Given the description of an element on the screen output the (x, y) to click on. 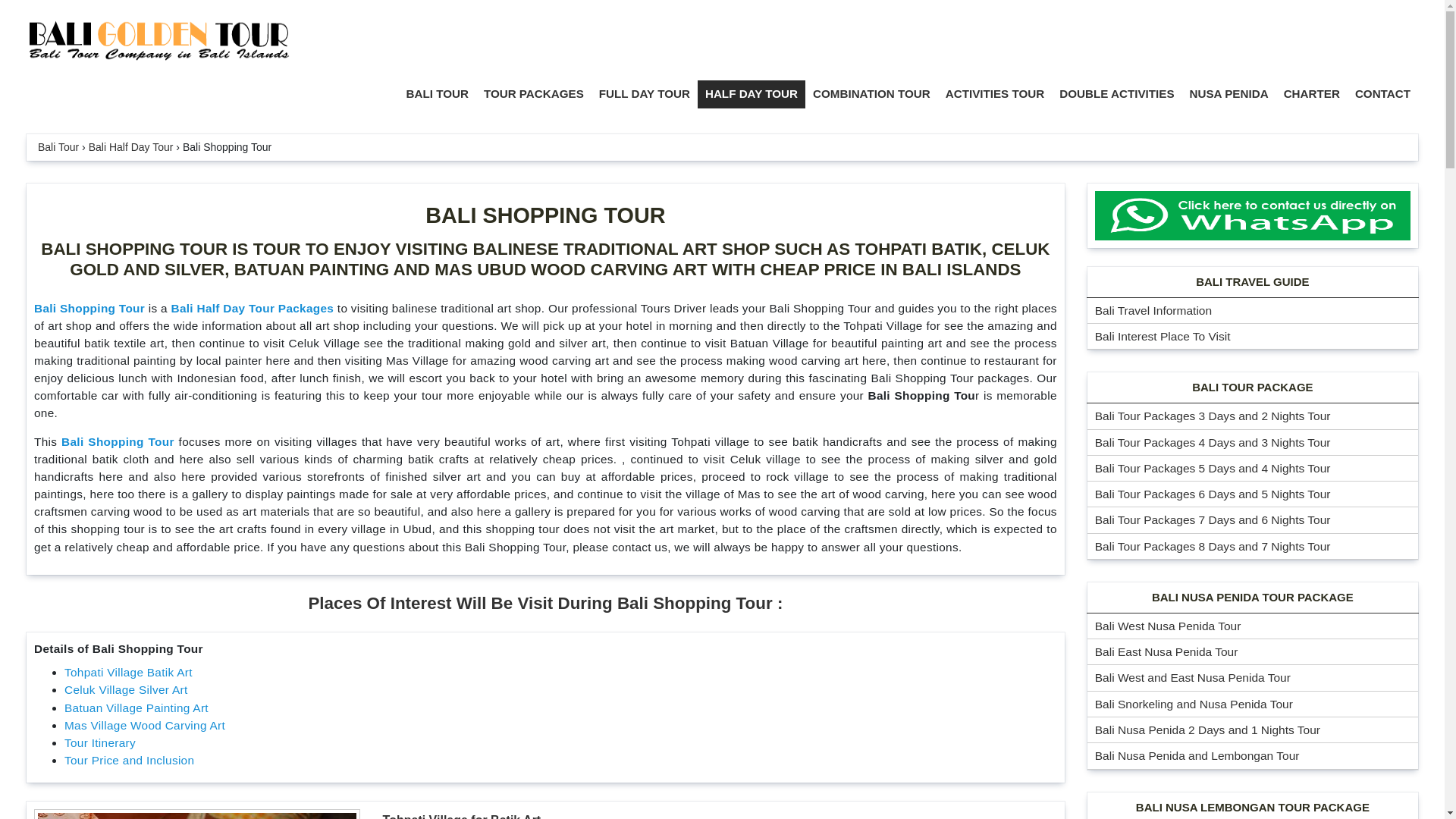
Tour Price and Inclusion (128, 759)
Bali Shopping Tour (88, 308)
BALI ACTIVITIES TOUR (994, 94)
BALI DOUBLE ACTIVITIES TOUR (1115, 94)
Bali Half Day Tour (130, 146)
DOUBLE ACTIVITIES (1115, 94)
Bali Half Day Tour (130, 146)
CONTACT BALI TOURS (1383, 94)
Batuan Village Painting Art (136, 707)
Mas Village Wood Carving Art (144, 725)
BALI TOUR PACKAGES (533, 94)
BALI COMBINATION TOUR (871, 94)
NUSA PENIDA (1229, 94)
Bali Tour (57, 146)
